Given the description of an element on the screen output the (x, y) to click on. 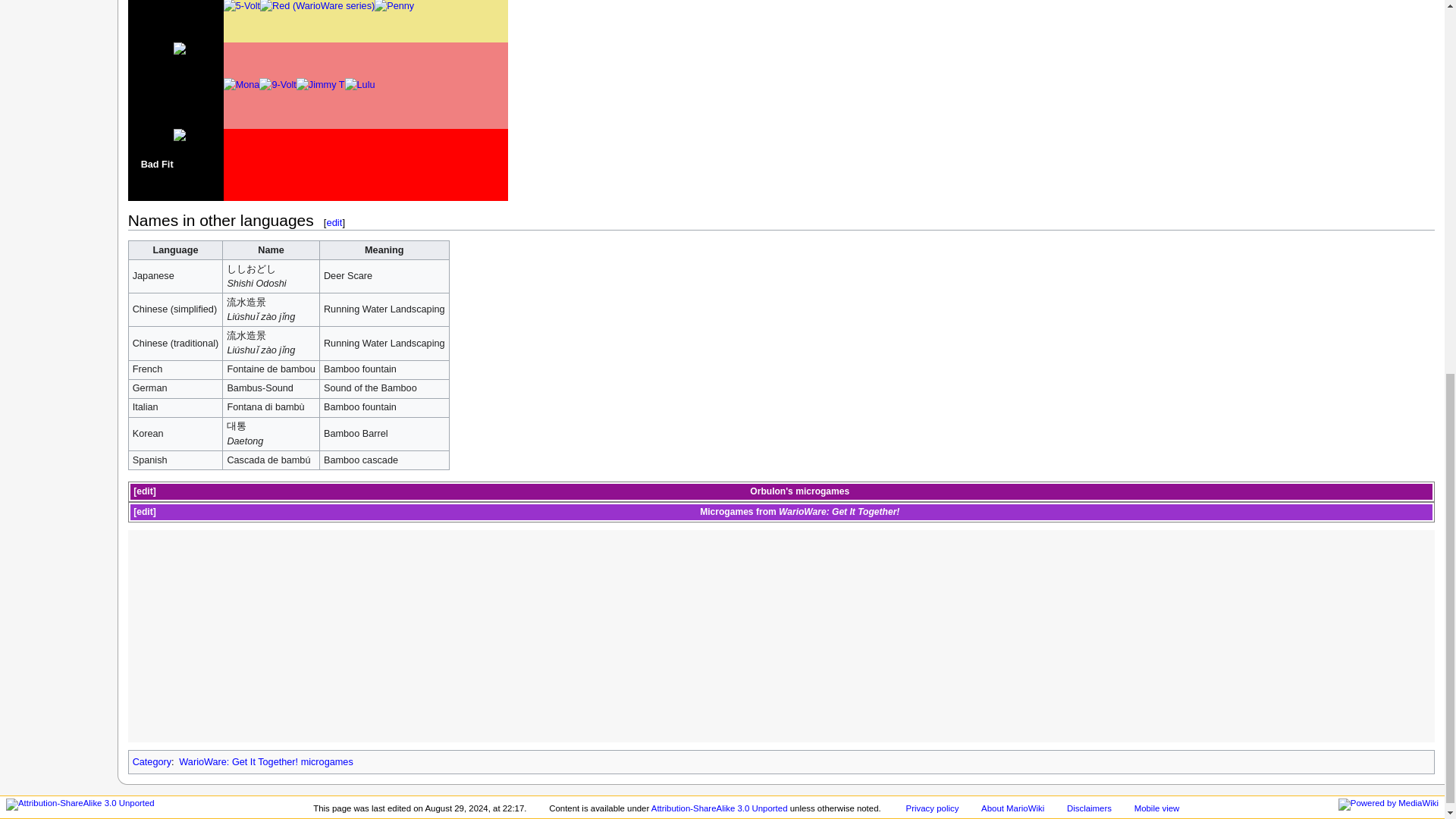
microgames (821, 491)
edit (144, 491)
Orbulon (767, 491)
edit (334, 222)
